Given the description of an element on the screen output the (x, y) to click on. 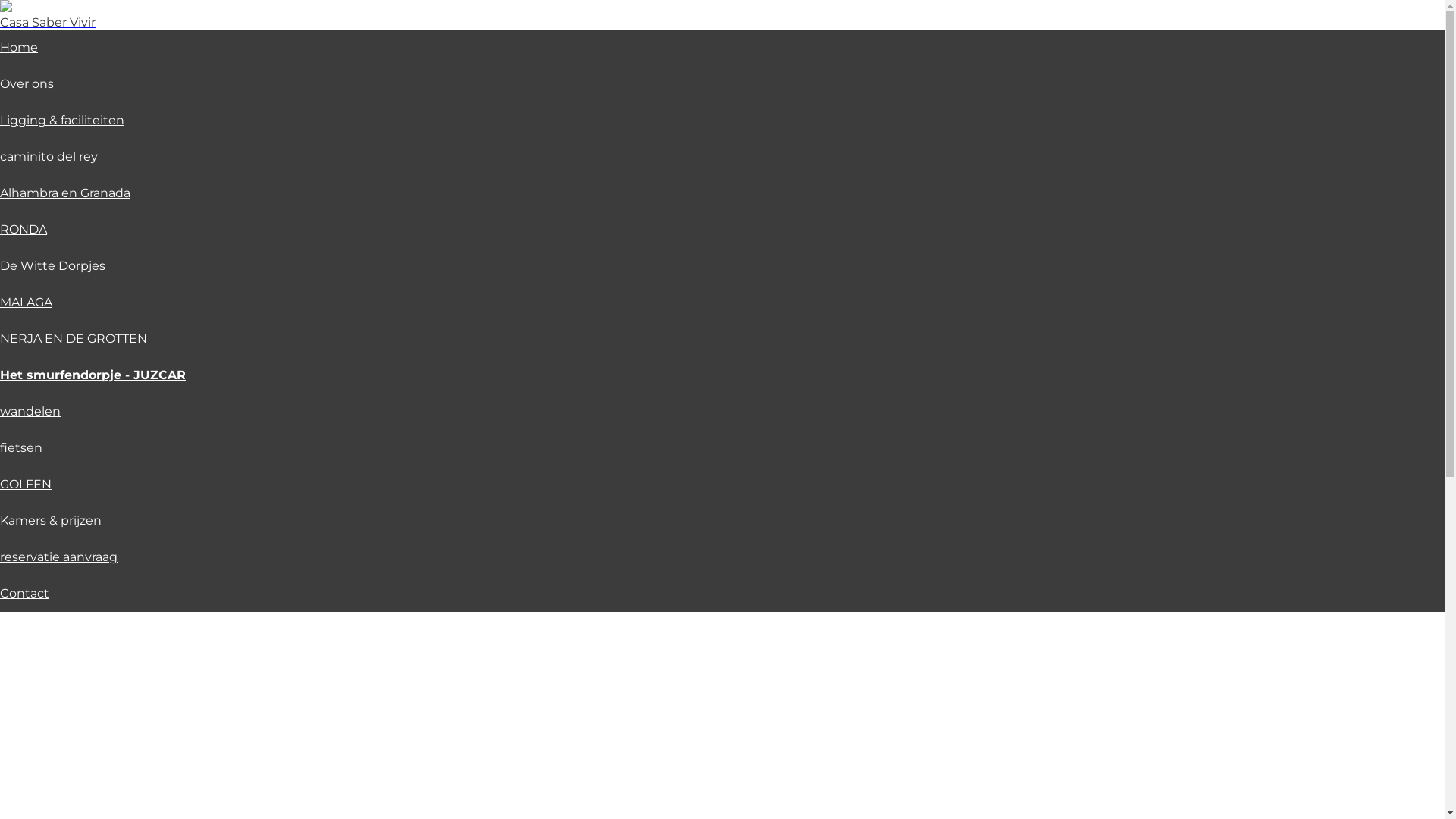
Het smurfendorpje - JUZCAR Element type: text (92, 374)
GOLFEN Element type: text (25, 483)
reservatie aanvraag Element type: text (58, 556)
Casa Saber Vivir Element type: text (47, 21)
RONDA Element type: text (23, 229)
NERJA EN DE GROTTEN Element type: text (73, 338)
wandelen Element type: text (30, 411)
Home Element type: text (18, 47)
caminito del rey Element type: text (48, 156)
Contact Element type: text (24, 593)
Ligging & faciliteiten Element type: text (62, 119)
MALAGA Element type: text (26, 301)
Over ons Element type: text (26, 83)
fietsen Element type: text (21, 447)
Alhambra en Granada Element type: text (65, 192)
Kamers & prijzen Element type: text (50, 520)
De Witte Dorpjes Element type: text (52, 265)
